Given the description of an element on the screen output the (x, y) to click on. 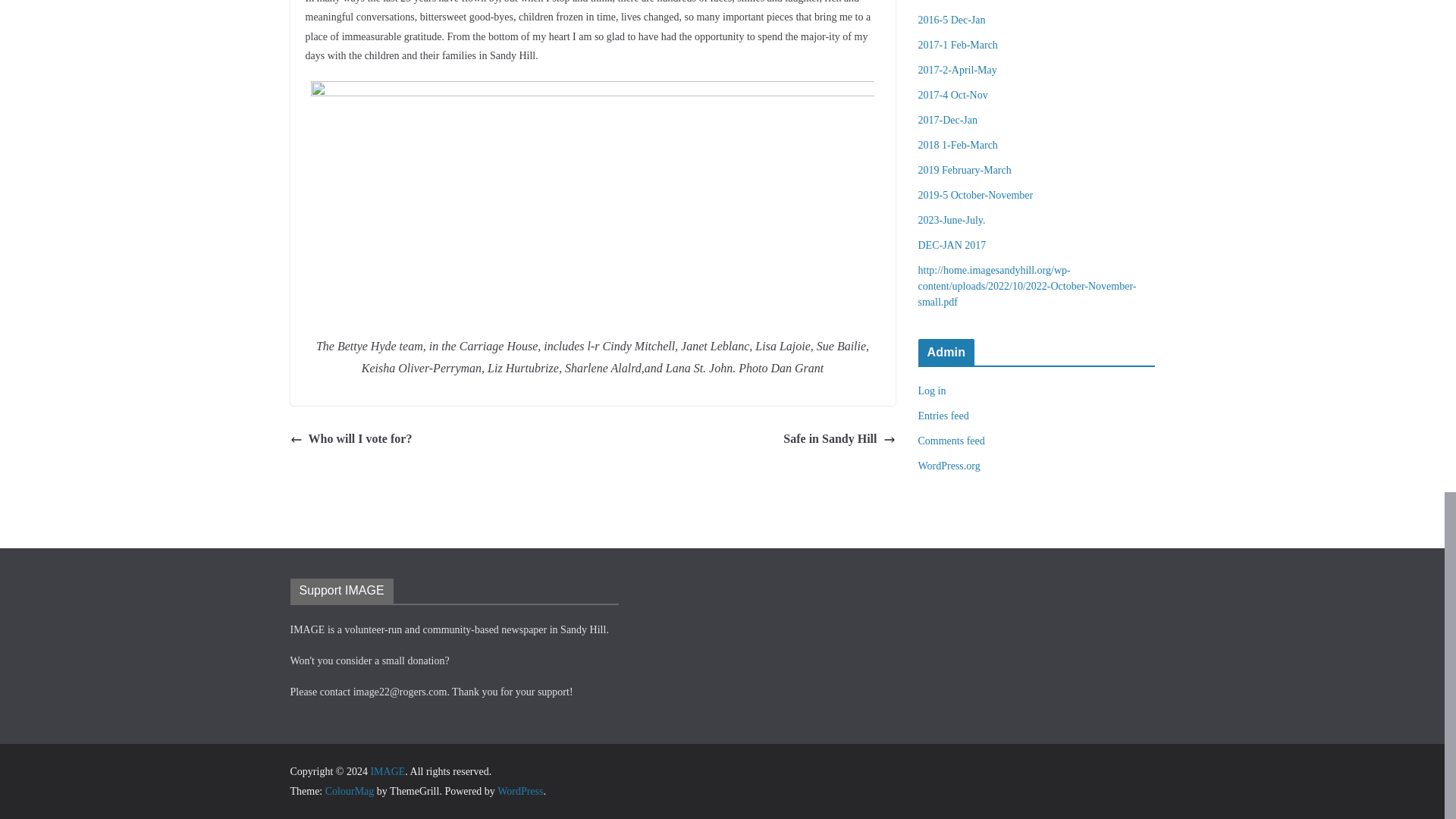
Who will I vote for? (350, 439)
IMAGE (386, 771)
Safe in Sandy Hill (839, 439)
WordPress (520, 790)
ColourMag (349, 790)
2017-2-April-May (956, 70)
